Given the description of an element on the screen output the (x, y) to click on. 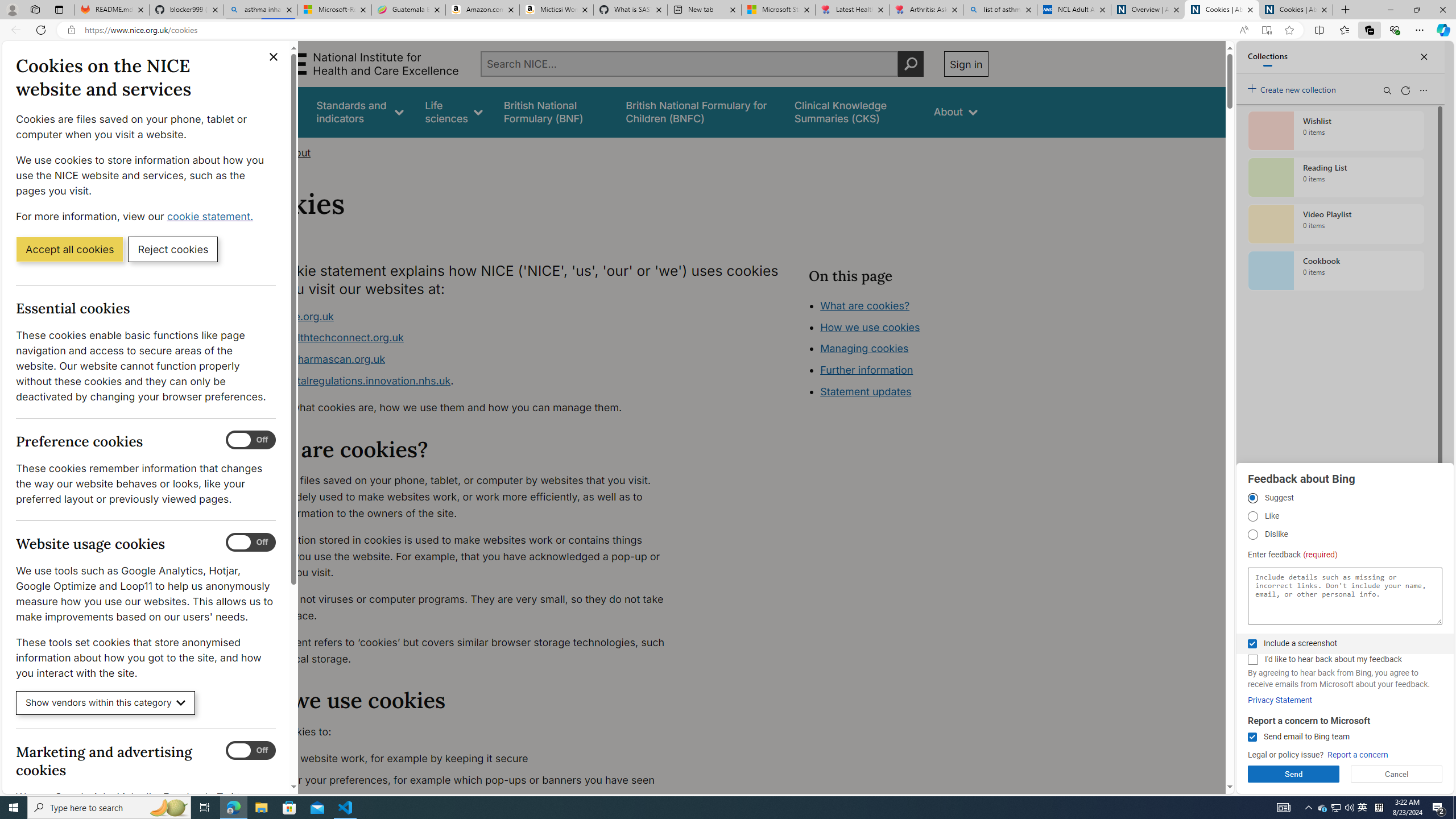
www.digitalregulations.innovation.nhs.uk. (464, 380)
Privacy Statement (1280, 700)
What are cookies? (864, 305)
Cookies | About | NICE (1295, 9)
Reject cookies (173, 248)
